Given the description of an element on the screen output the (x, y) to click on. 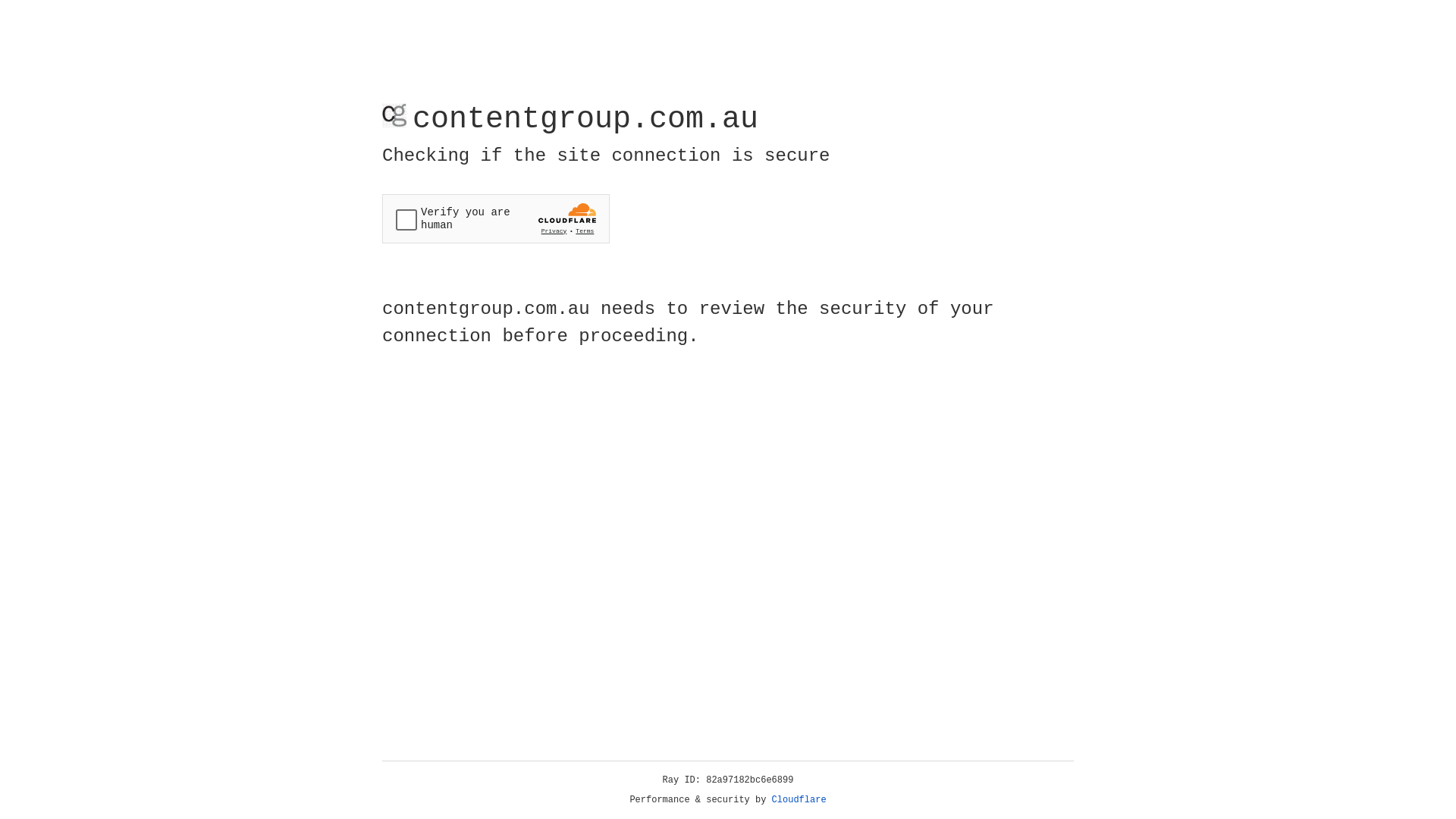
Widget containing a Cloudflare security challenge Element type: hover (495, 218)
Cloudflare Element type: text (798, 799)
